Given the description of an element on the screen output the (x, y) to click on. 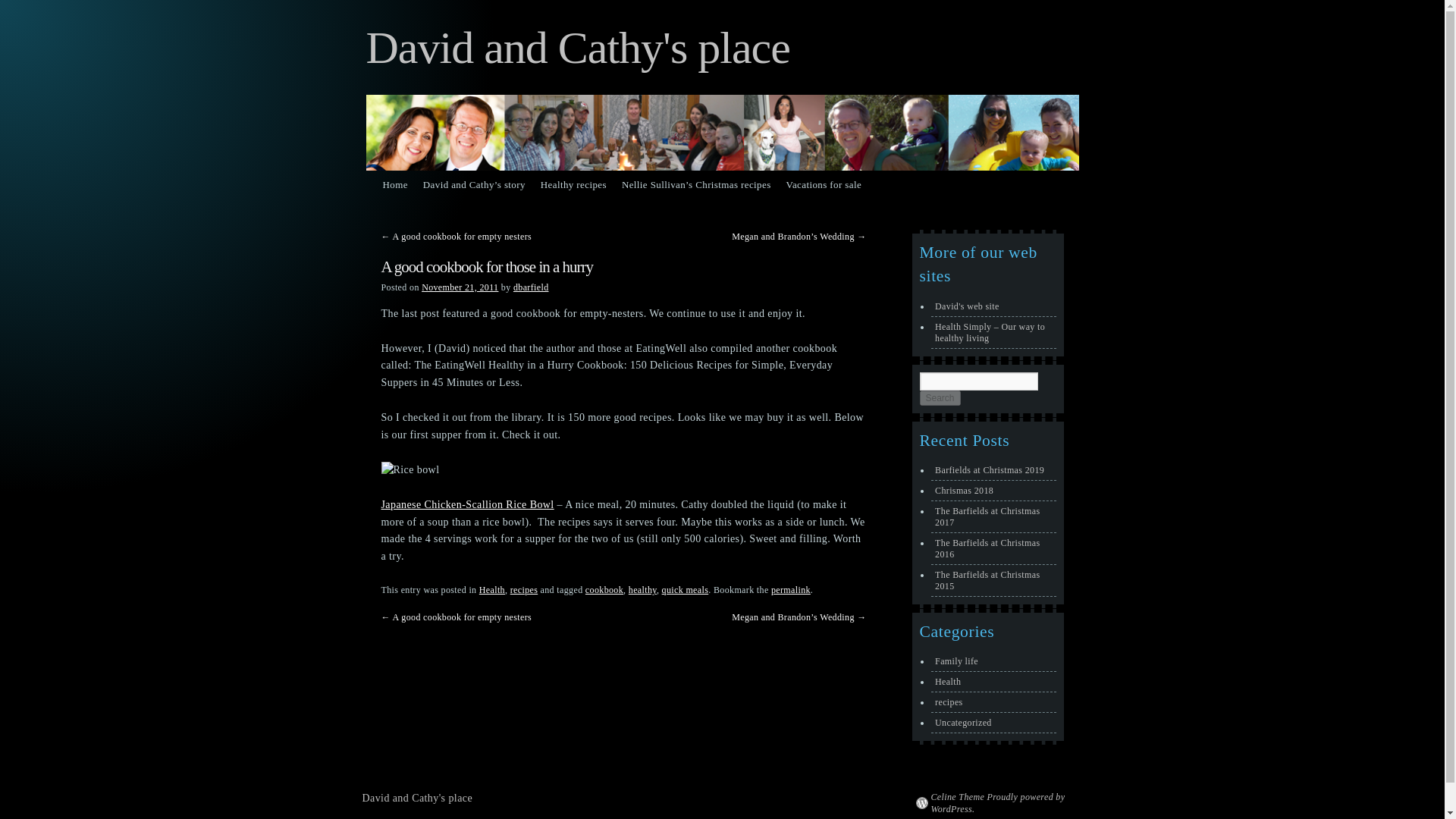
Japanese Chicken-Scallion Rice Bowl (466, 504)
Search (938, 397)
David's web site (992, 306)
recipes (524, 589)
Search (938, 397)
David and Cathy's place (417, 797)
Health (492, 589)
Uncategorized (992, 722)
Barfields at Christmas 2019 (992, 470)
Vacations for sale (823, 184)
